Given the description of an element on the screen output the (x, y) to click on. 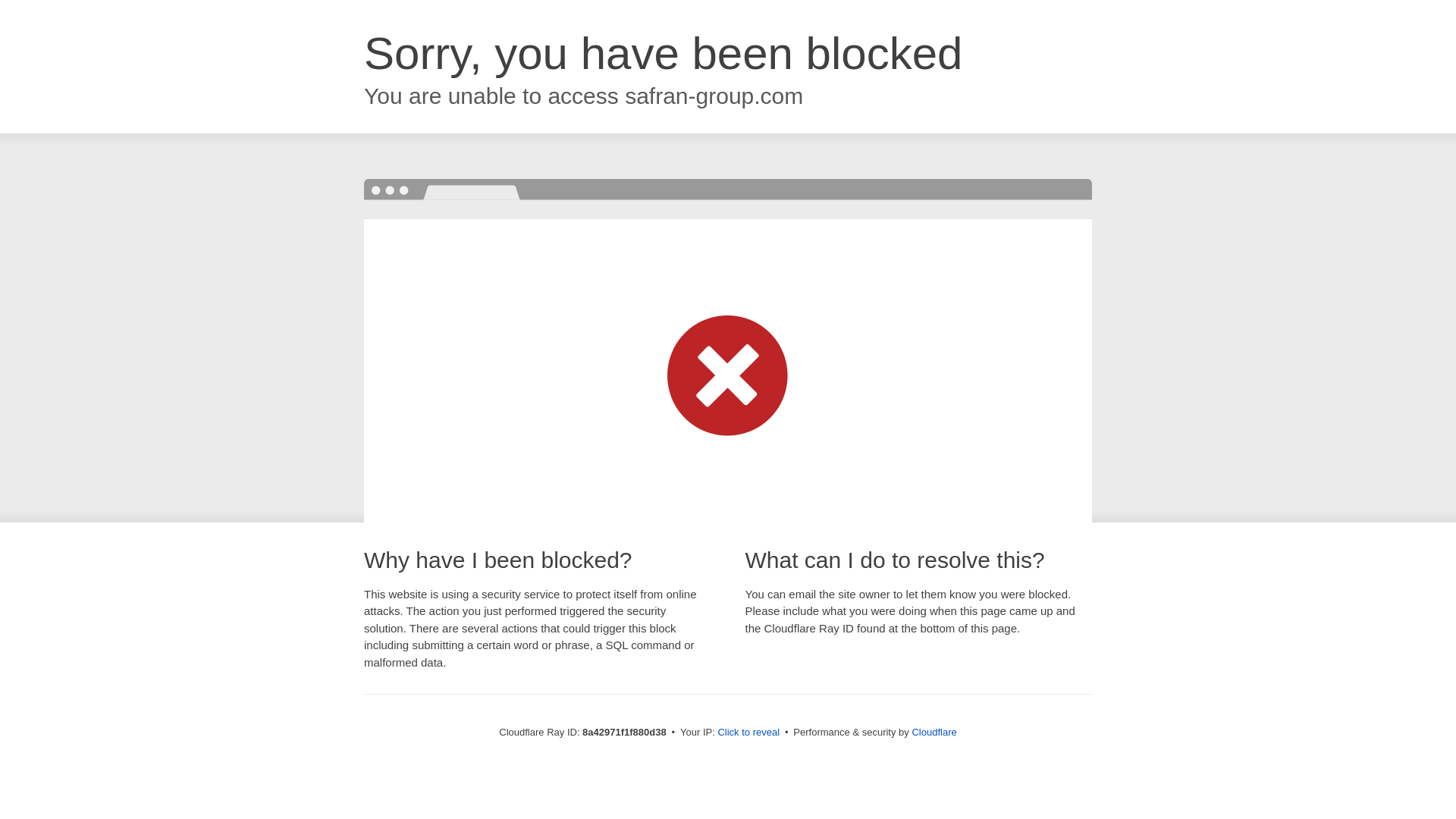
Cloudflare (933, 731)
Click to reveal (747, 732)
